Given the description of an element on the screen output the (x, y) to click on. 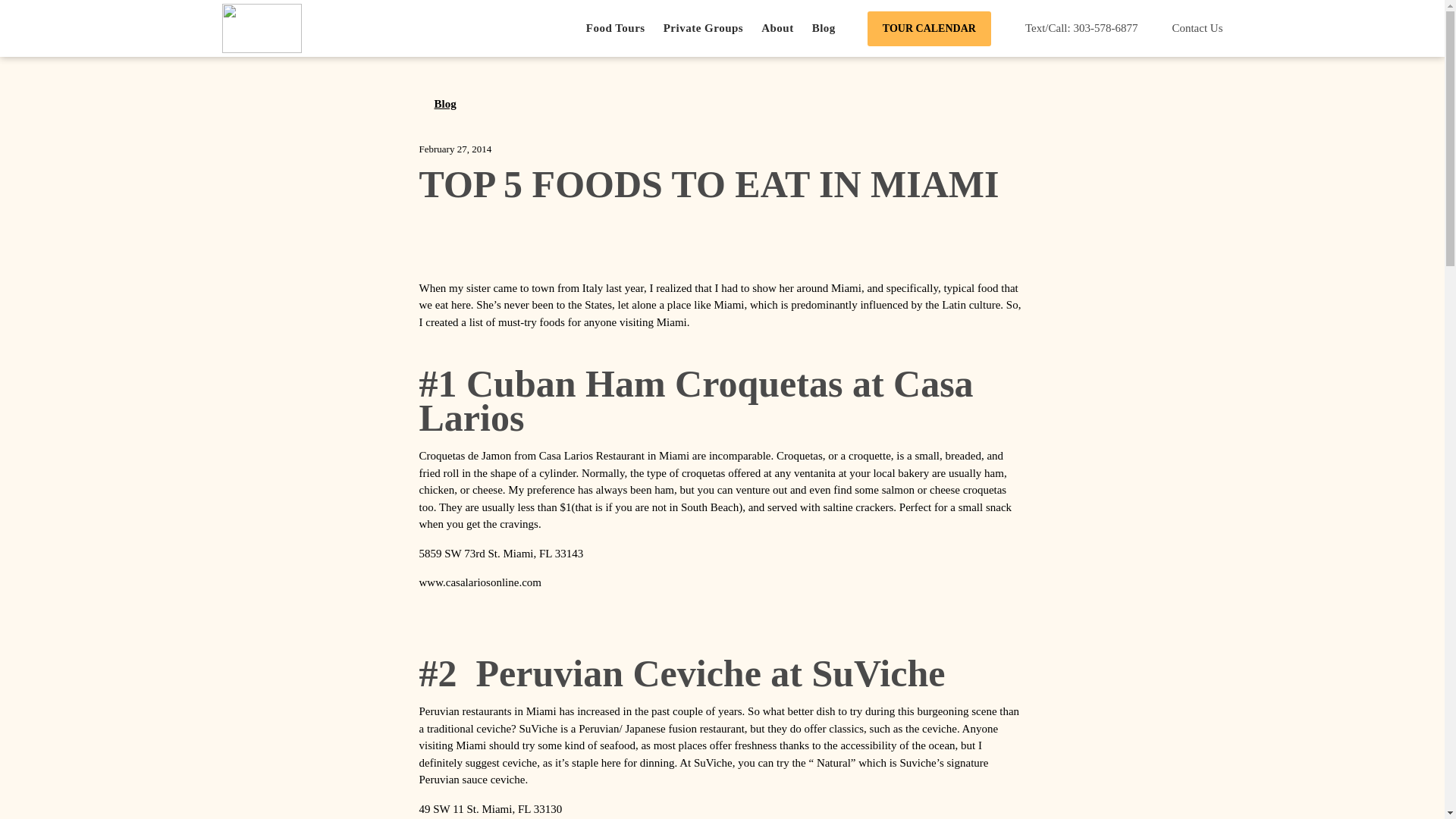
Private Groups (702, 28)
Blog (437, 103)
TOUR CALENDAR (929, 27)
Contact Us (1189, 28)
Food Tours (615, 28)
